Given the description of an element on the screen output the (x, y) to click on. 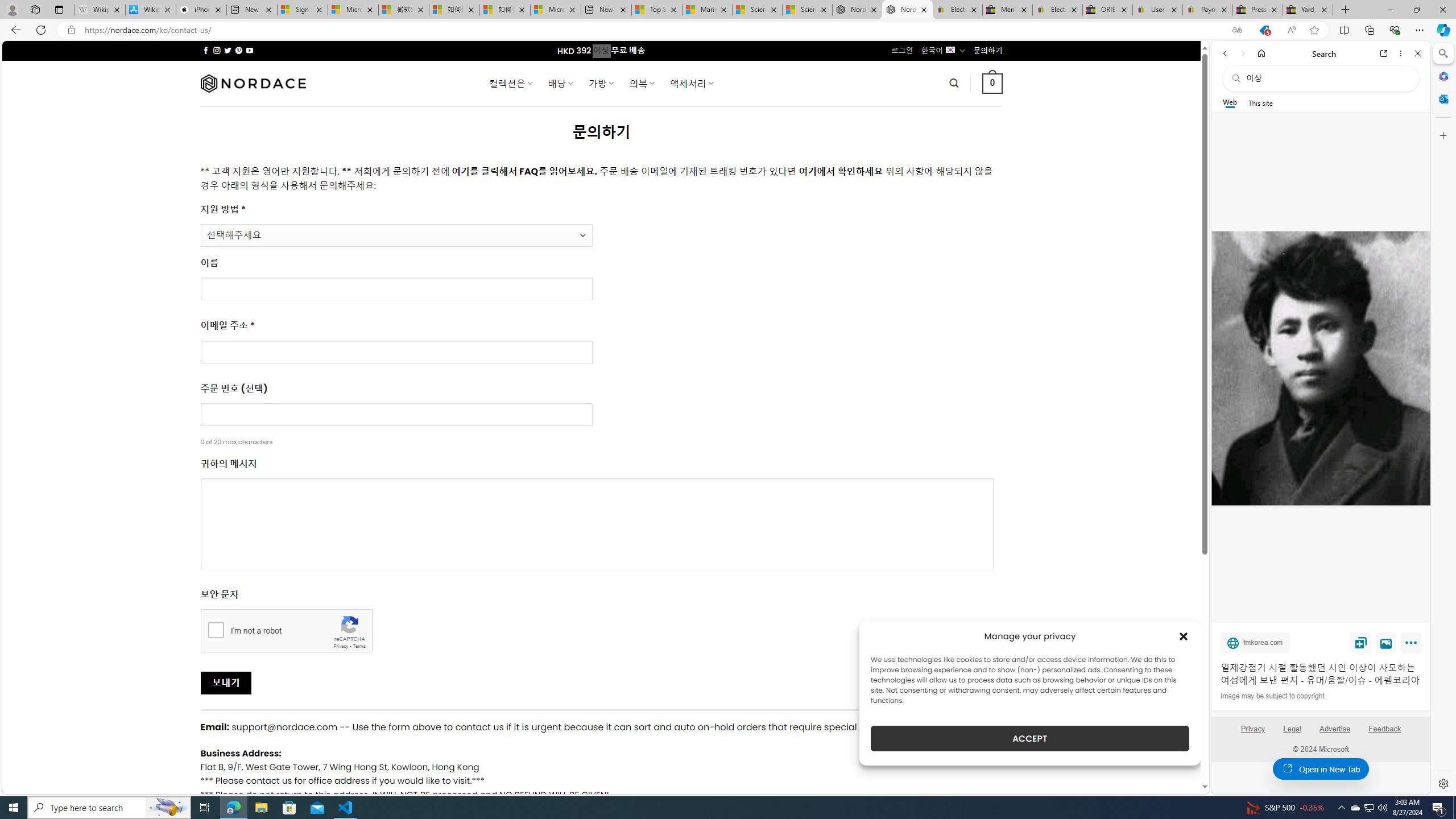
Terms (359, 646)
I'm not a robot (216, 629)
Marine life - MSN (706, 9)
View image (1385, 642)
User Privacy Notice | eBay (1158, 9)
Show translate options (1236, 29)
This site has coupons! Shopping in Microsoft Edge, 5 (1263, 29)
Nordace - Summer Adventures 2024 (856, 9)
